Given the description of an element on the screen output the (x, y) to click on. 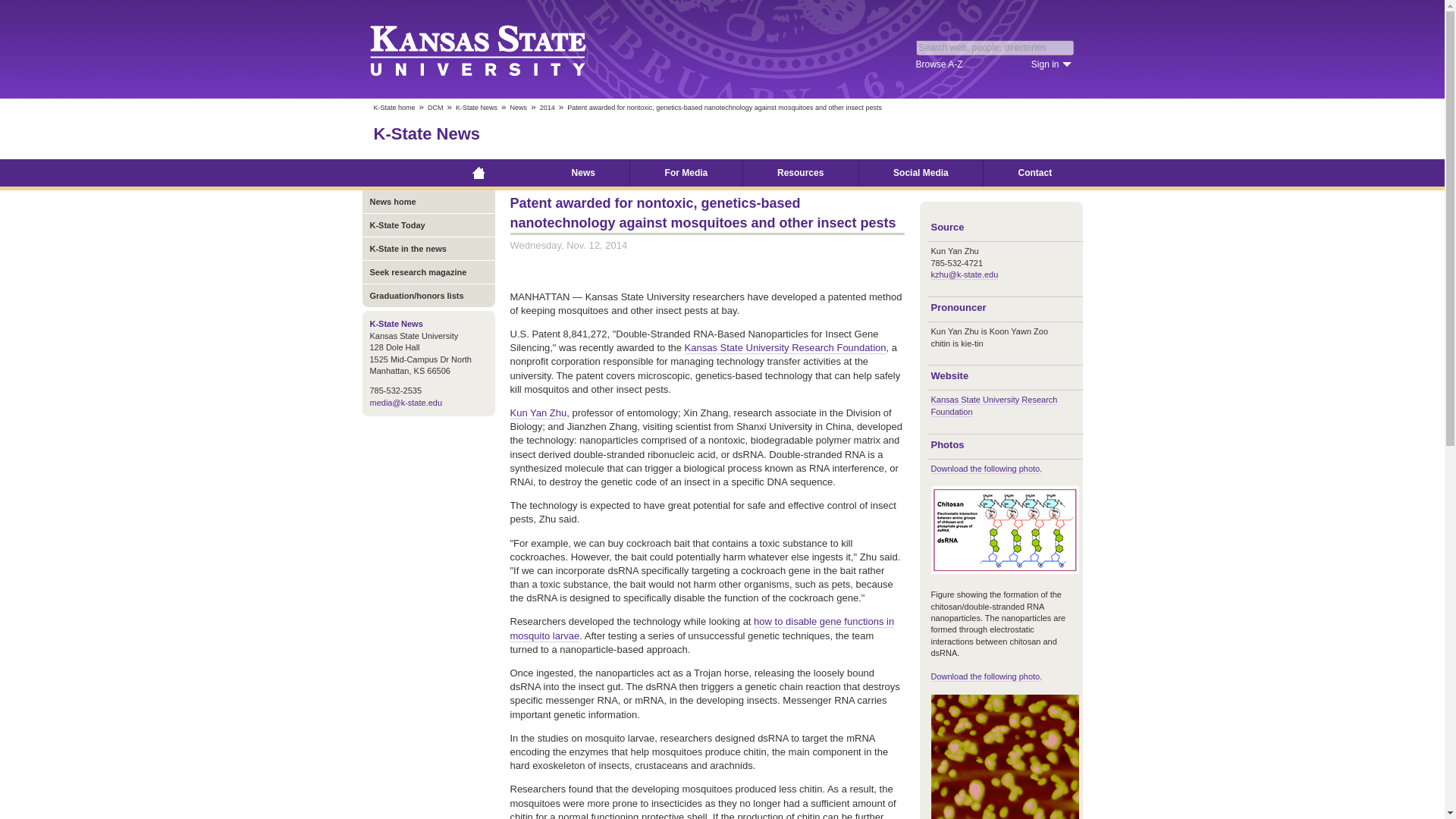
Browse A-Z (938, 63)
K-State home (393, 107)
Nanoparticles (1004, 756)
Home (479, 172)
Search web, people, directories (994, 47)
Search web, people, directories (994, 47)
Sign in (1050, 64)
K-State News (426, 133)
DCM (436, 107)
Resources (800, 172)
For Media (685, 172)
Kansas State University (496, 49)
News (582, 172)
News (519, 107)
2014 (547, 107)
